Given the description of an element on the screen output the (x, y) to click on. 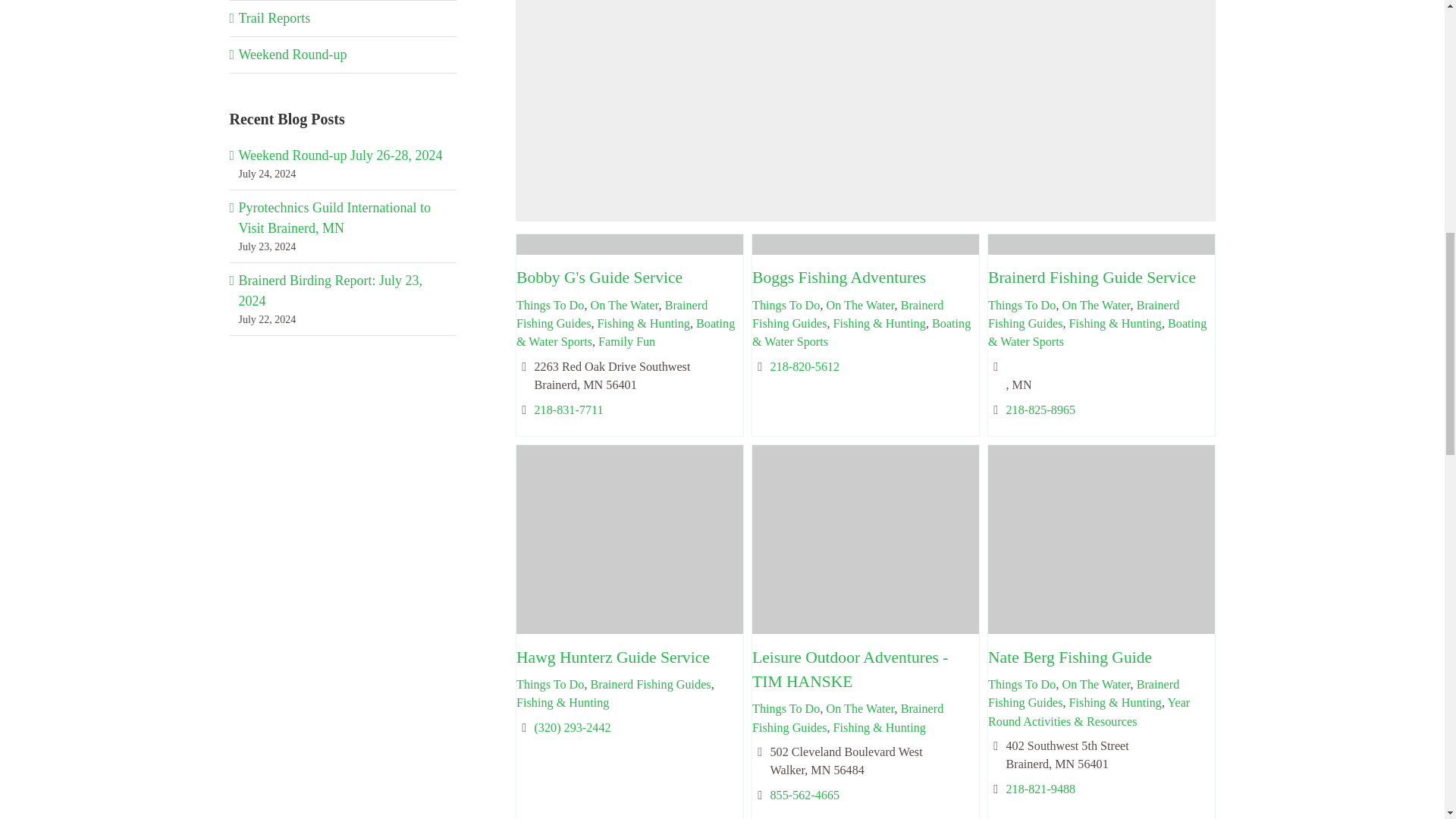
Things To Do (784, 305)
Brainerd Fishing Guides (610, 314)
Brainerd Fishing Guides (846, 314)
On The Water (859, 305)
Family Fun (626, 341)
Bobby G's Guide Service (598, 277)
Boggs Fishing Adventures (837, 277)
On The Water (623, 305)
Things To Do (549, 305)
